Given the description of an element on the screen output the (x, y) to click on. 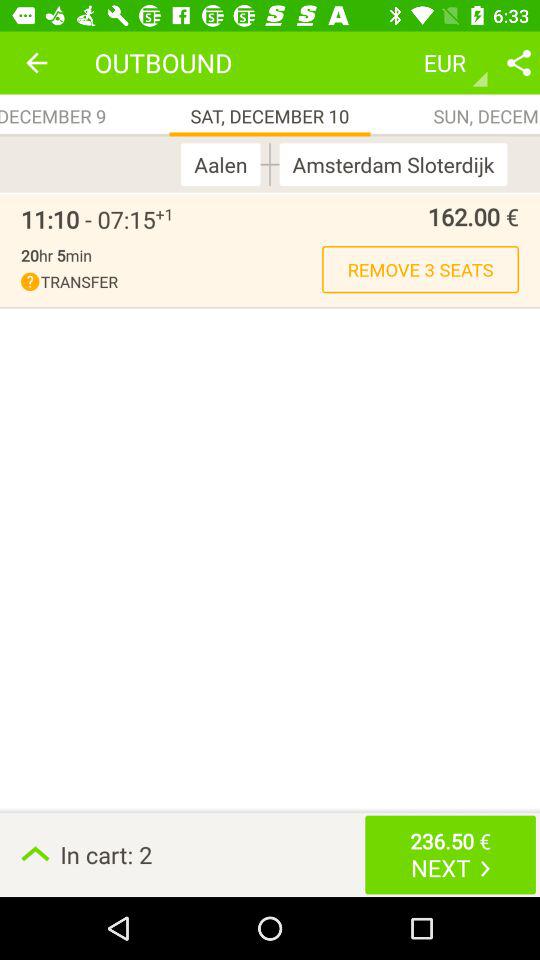
select item to the right of the eur item (518, 62)
